Given the description of an element on the screen output the (x, y) to click on. 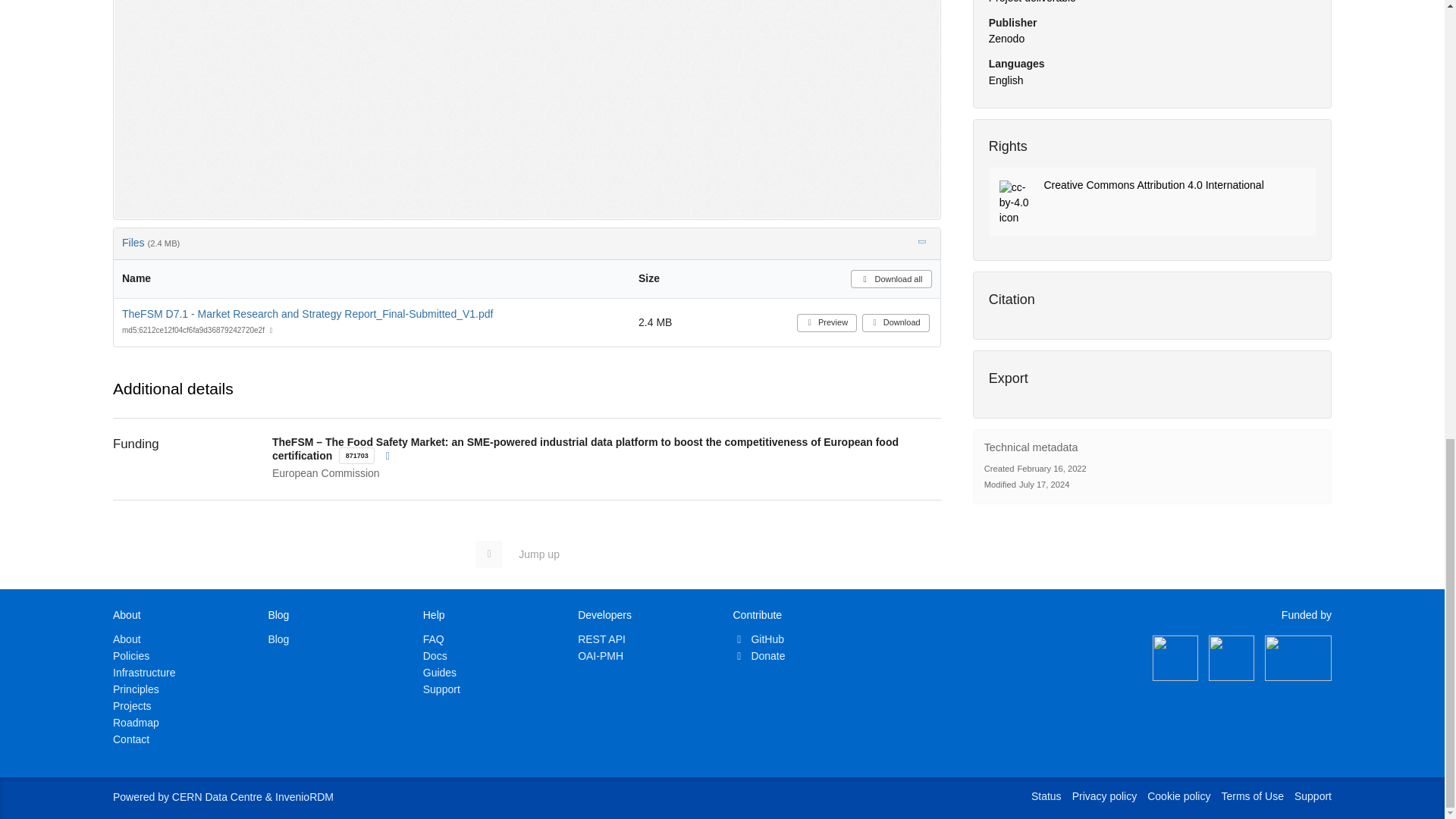
Principles (135, 689)
Download (895, 322)
FAQ (433, 639)
Contact (131, 739)
Preview (826, 322)
About (127, 639)
Projects (132, 705)
Guides (440, 672)
Docs (434, 655)
Infrastructure (143, 672)
Jump up (525, 554)
Roadmap (135, 722)
Download all (890, 279)
Policies (131, 655)
